Given the description of an element on the screen output the (x, y) to click on. 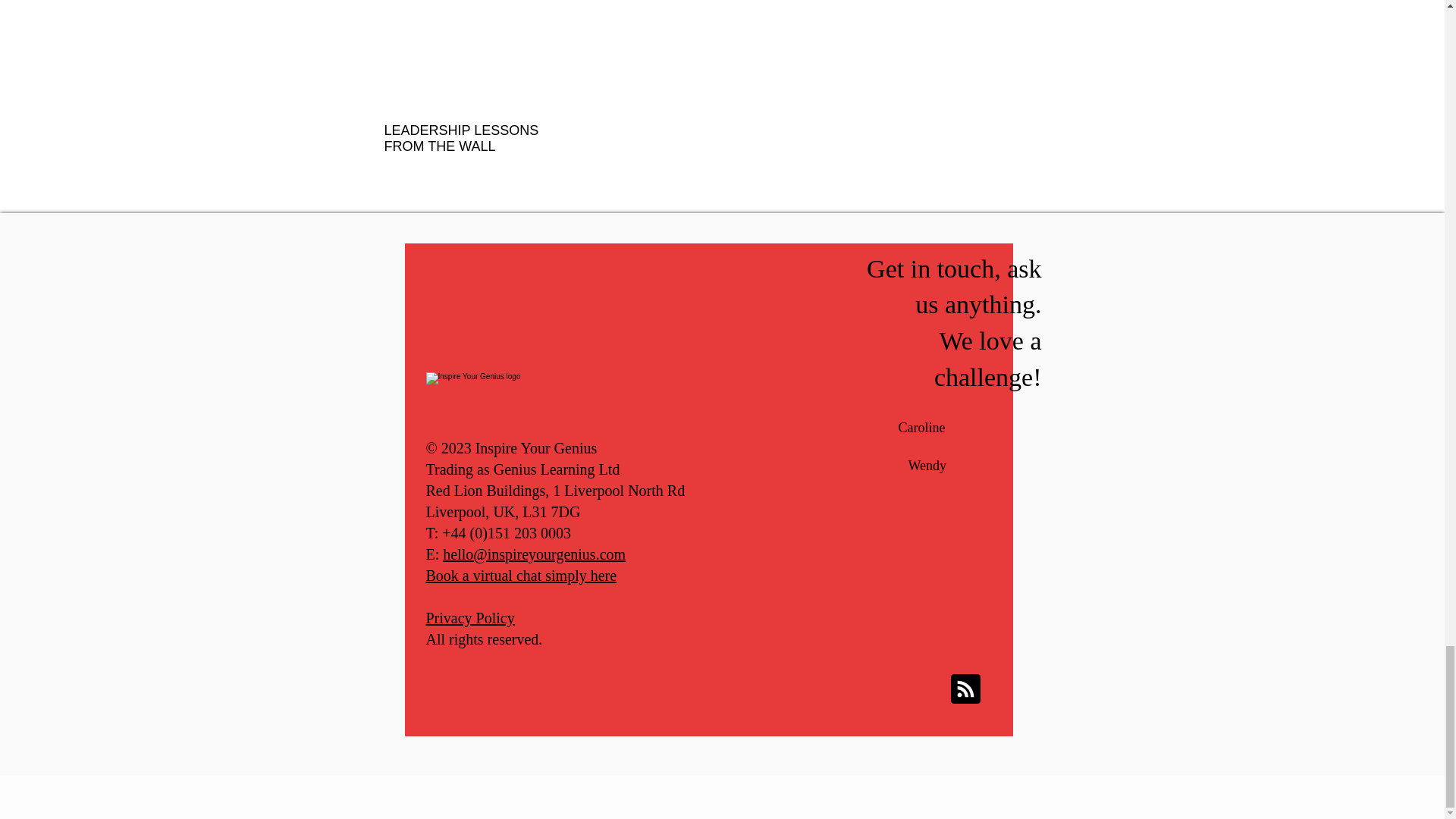
Privacy Policy (470, 617)
Book a virtual chat simply here (521, 575)
LEADERSHIP LESSONS FROM THE WALL (475, 138)
